Given the description of an element on the screen output the (x, y) to click on. 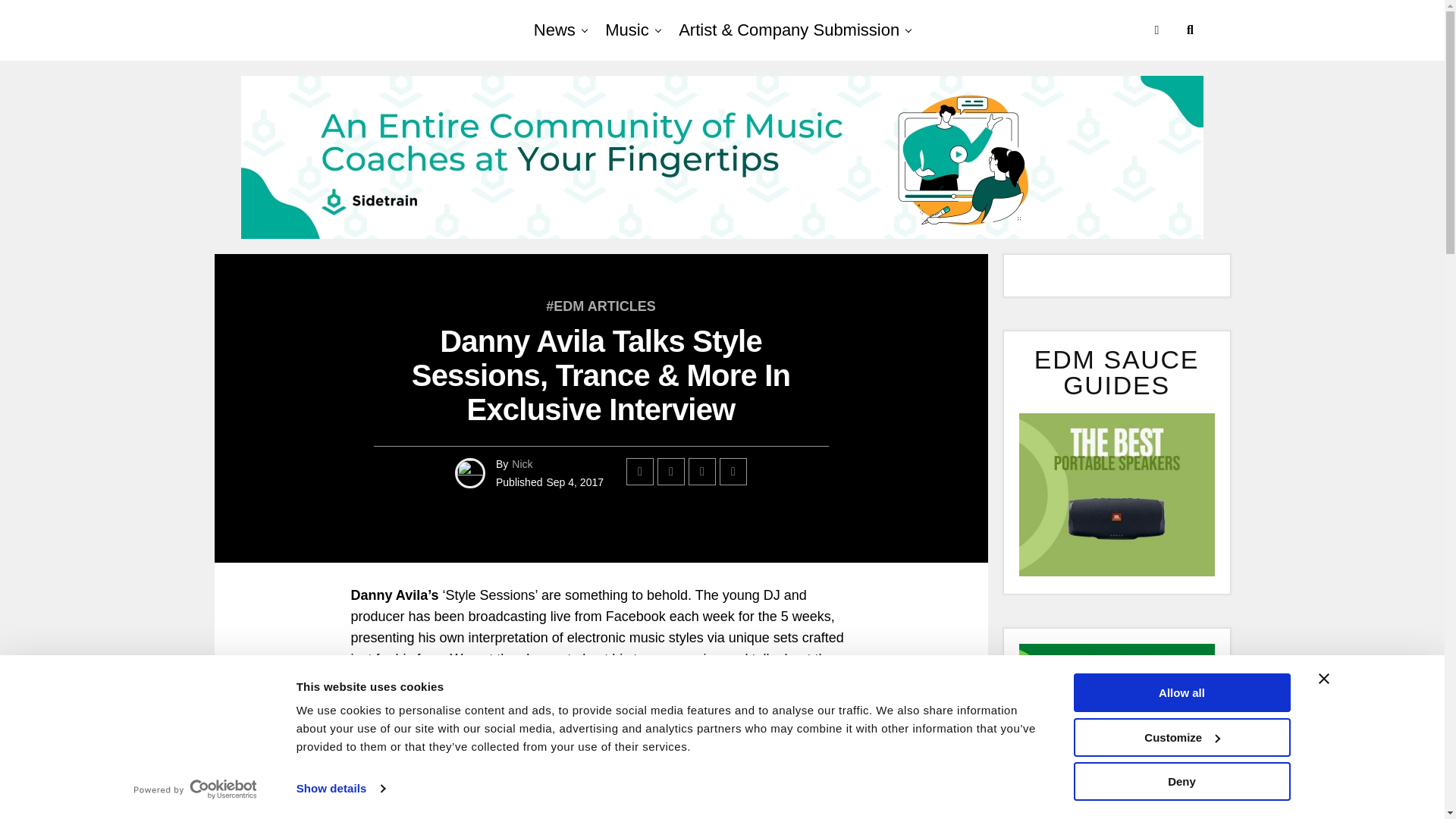
Show details (340, 788)
